Given the description of an element on the screen output the (x, y) to click on. 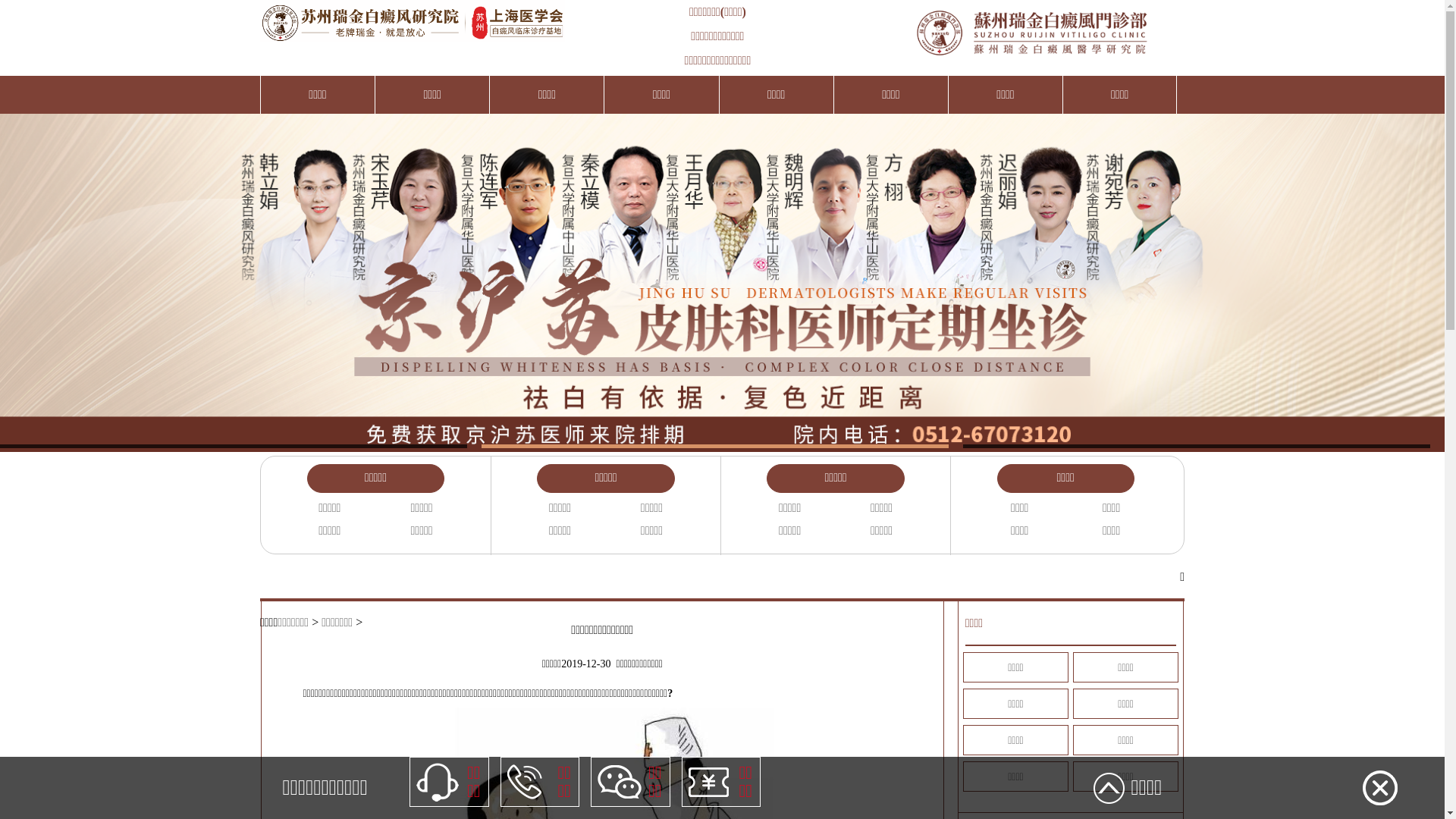
banner1 Element type: hover (722, 274)
